Given the description of an element on the screen output the (x, y) to click on. 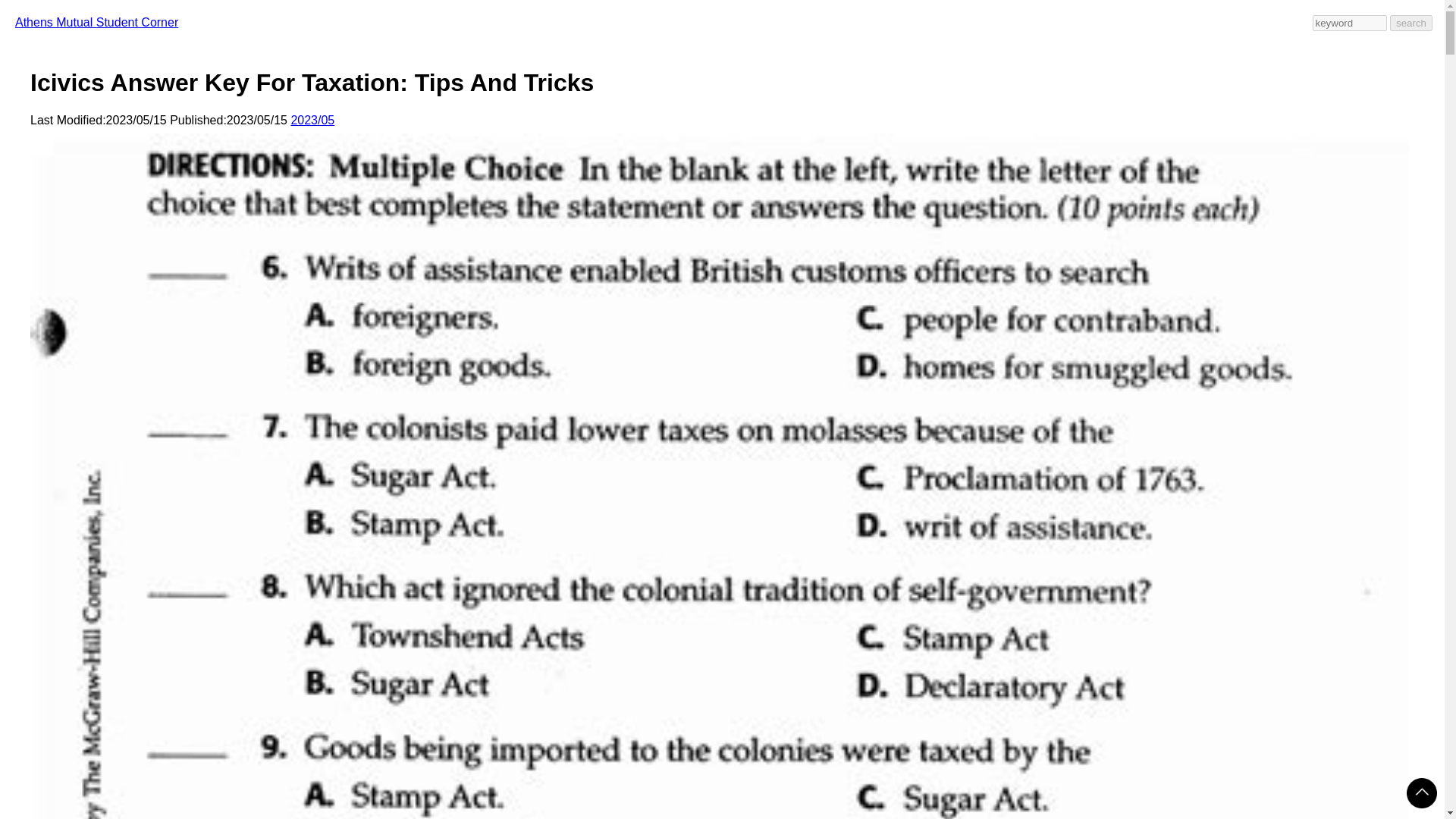
Athens Mutual Student Corner (95, 21)
search (1411, 23)
